Given the description of an element on the screen output the (x, y) to click on. 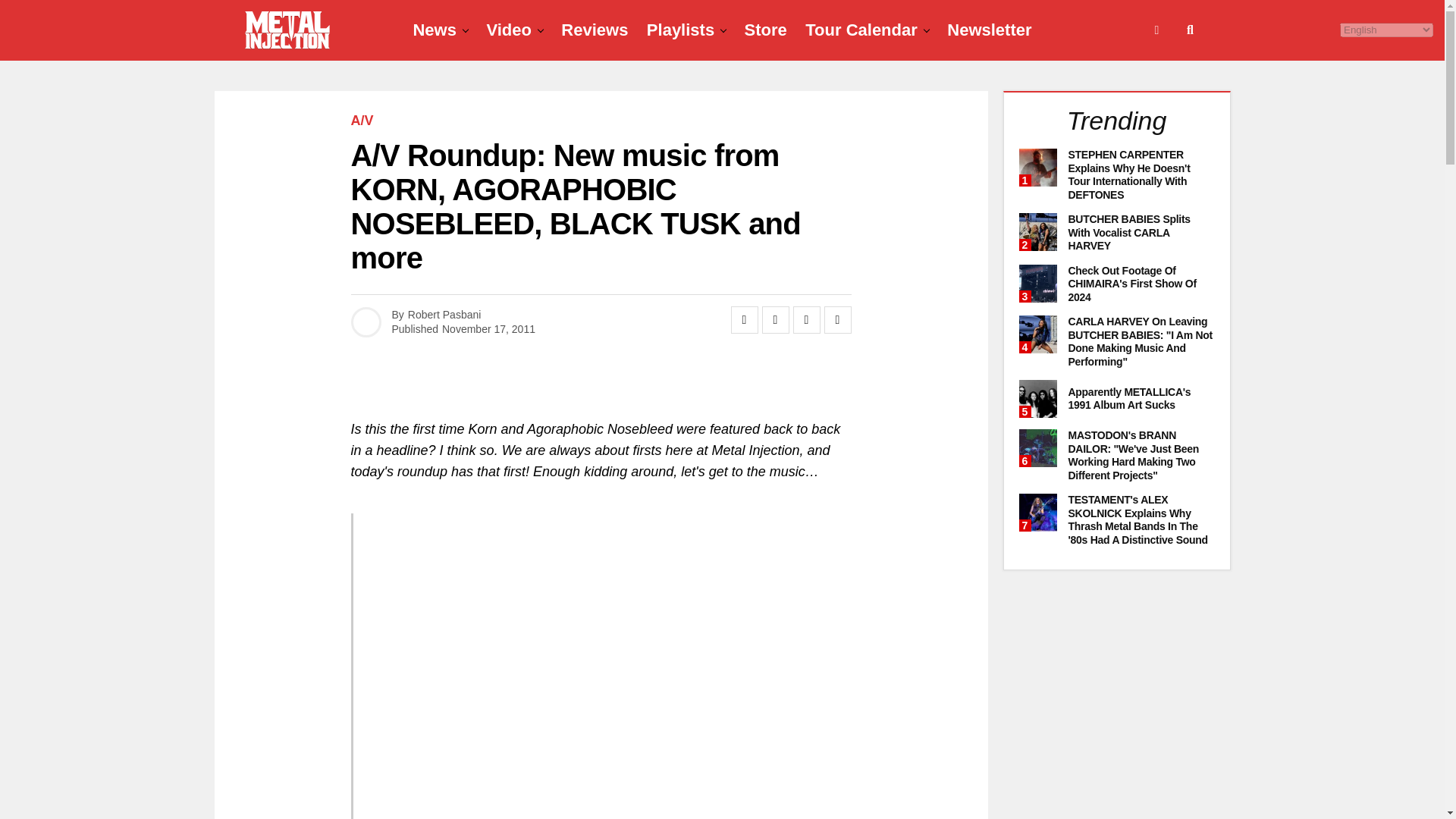
Tweet This Post (775, 319)
Share on Facebook (744, 319)
Share on Flipboard (807, 319)
